Given the description of an element on the screen output the (x, y) to click on. 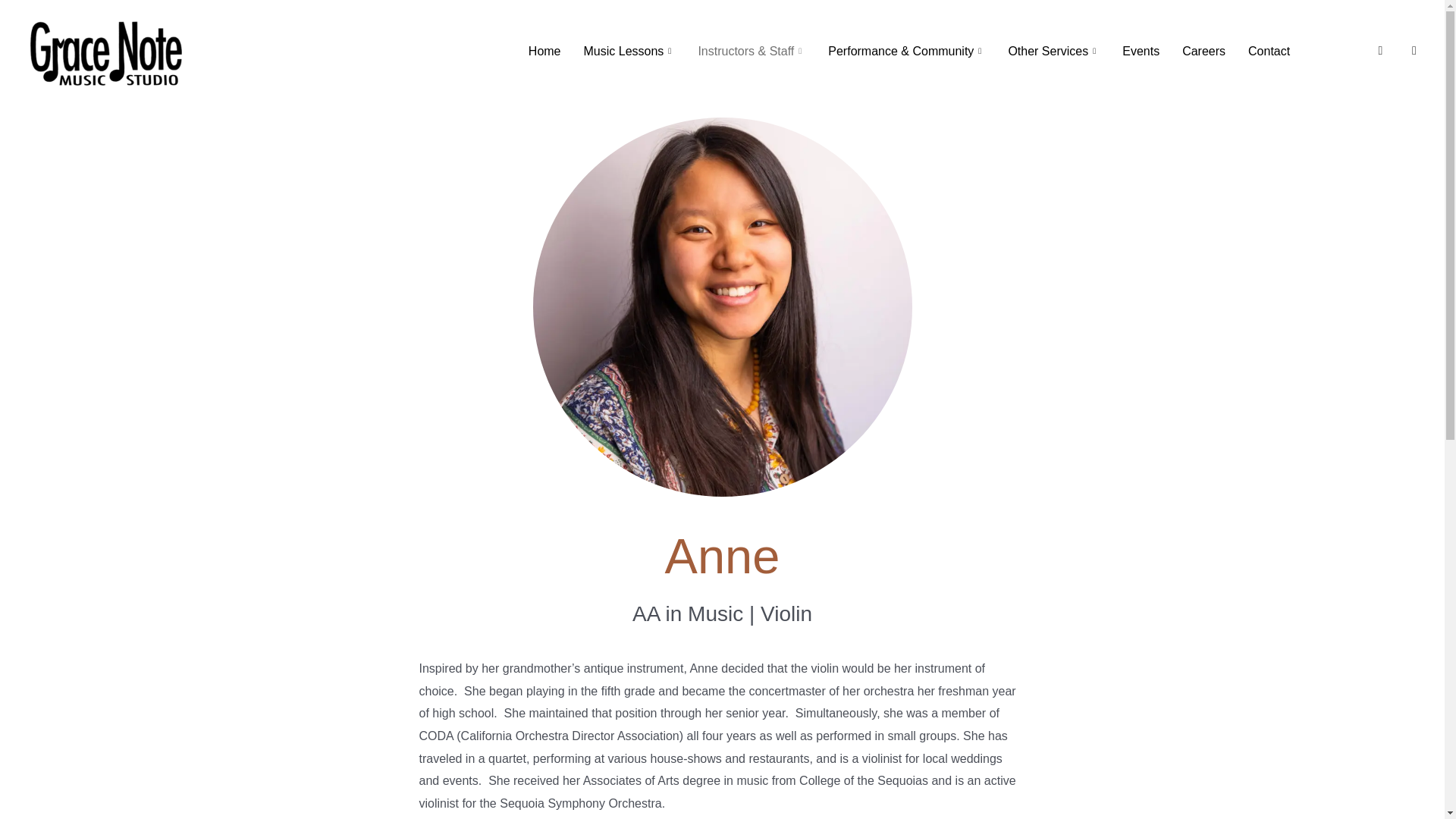
Music Lessons (629, 14)
Home (544, 9)
